Given the description of an element on the screen output the (x, y) to click on. 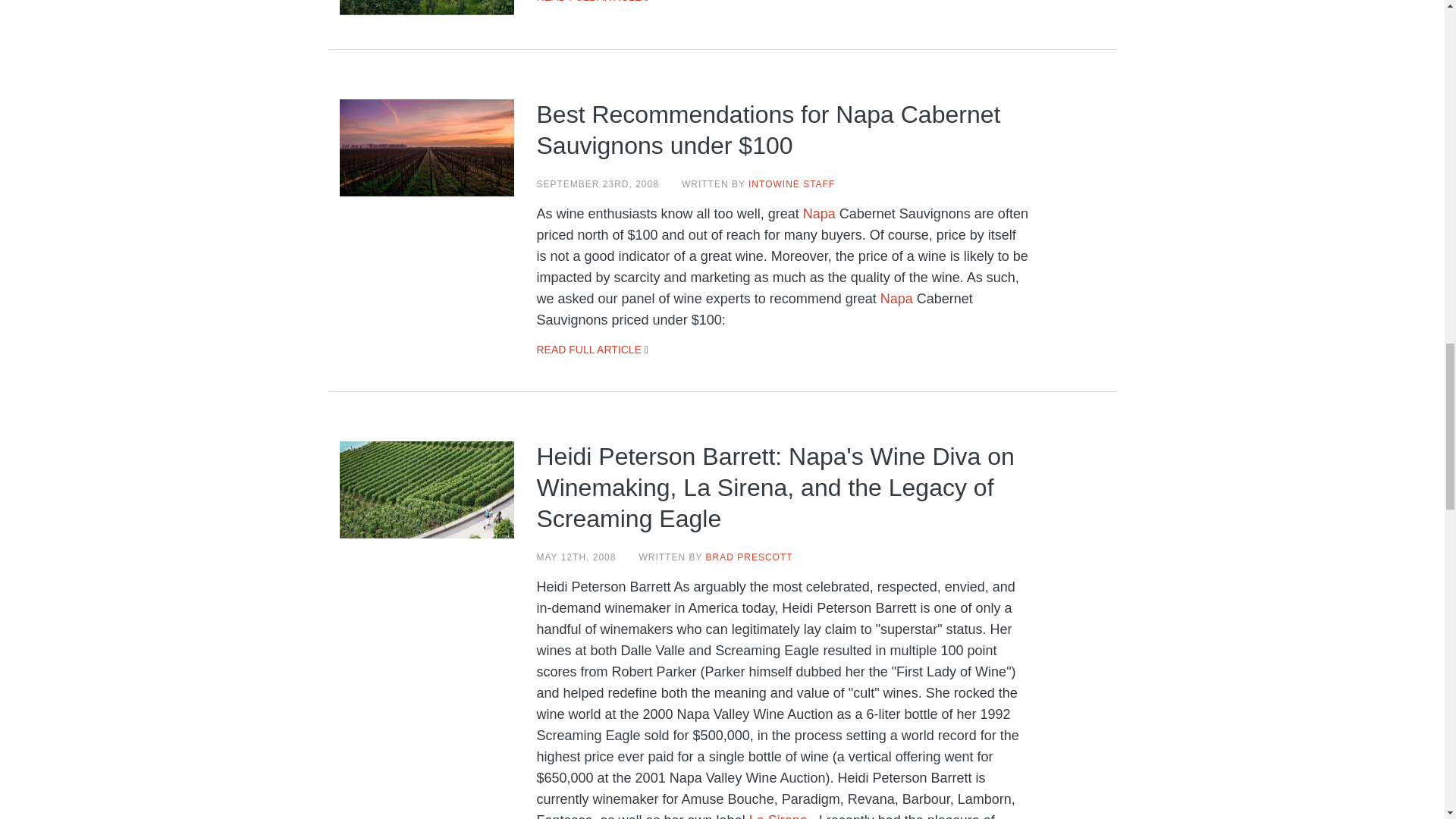
View user profile. (749, 557)
READ FULL ARTICLE (589, 1)
View user profile. (791, 184)
